Given the description of an element on the screen output the (x, y) to click on. 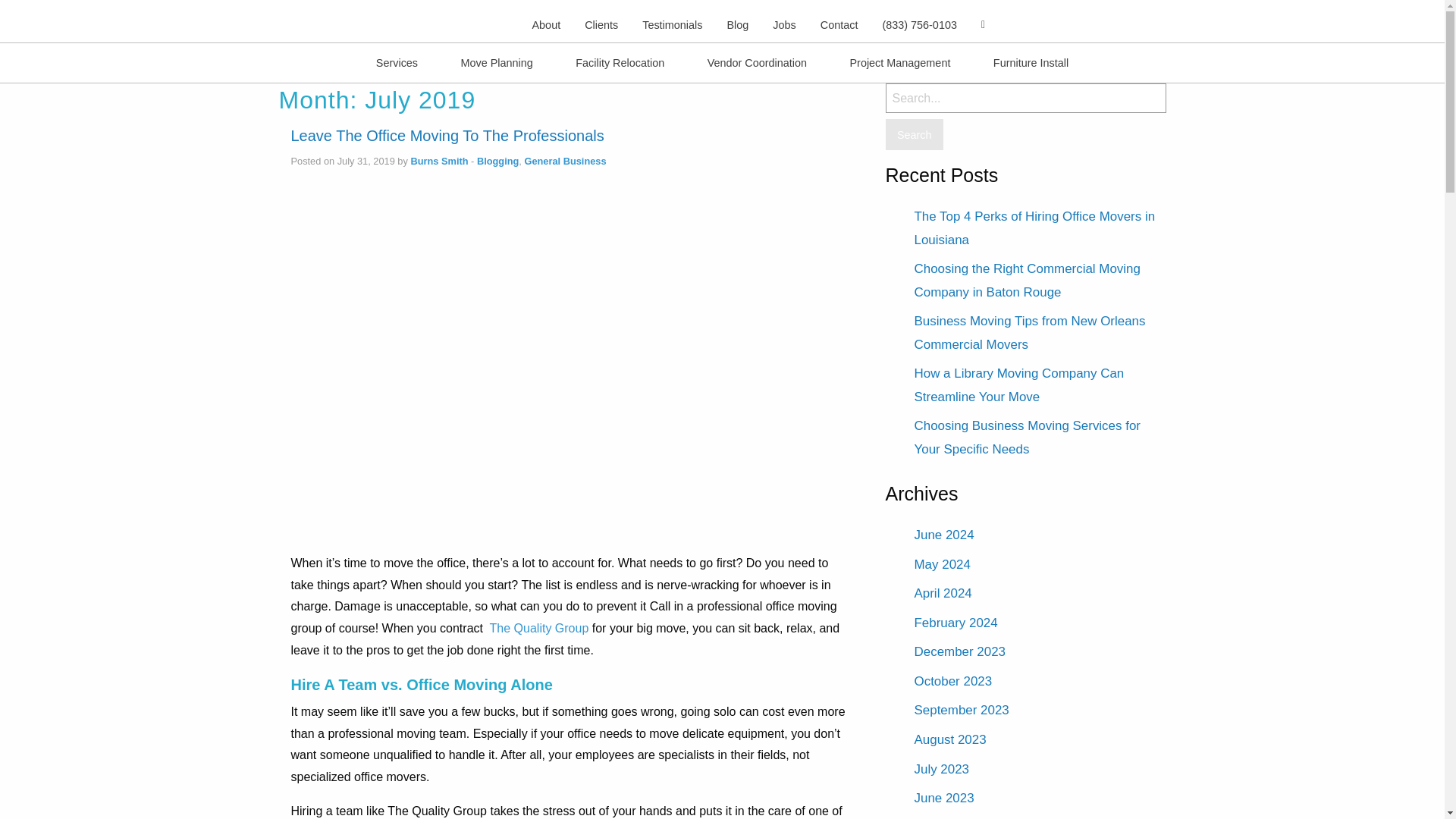
Testimonials (672, 24)
About (546, 24)
Contact (839, 24)
Posts by Burns Smith (438, 161)
Blog (737, 24)
Facility Relocation (620, 62)
Jobs (65, 107)
Testimonials (20, 107)
Search (914, 133)
Leave The Office Moving To The Professionals (447, 135)
Clients (601, 24)
Contact (125, 107)
Project Management (899, 62)
Jobs (784, 24)
Vendor Coordination (756, 62)
